Given the description of an element on the screen output the (x, y) to click on. 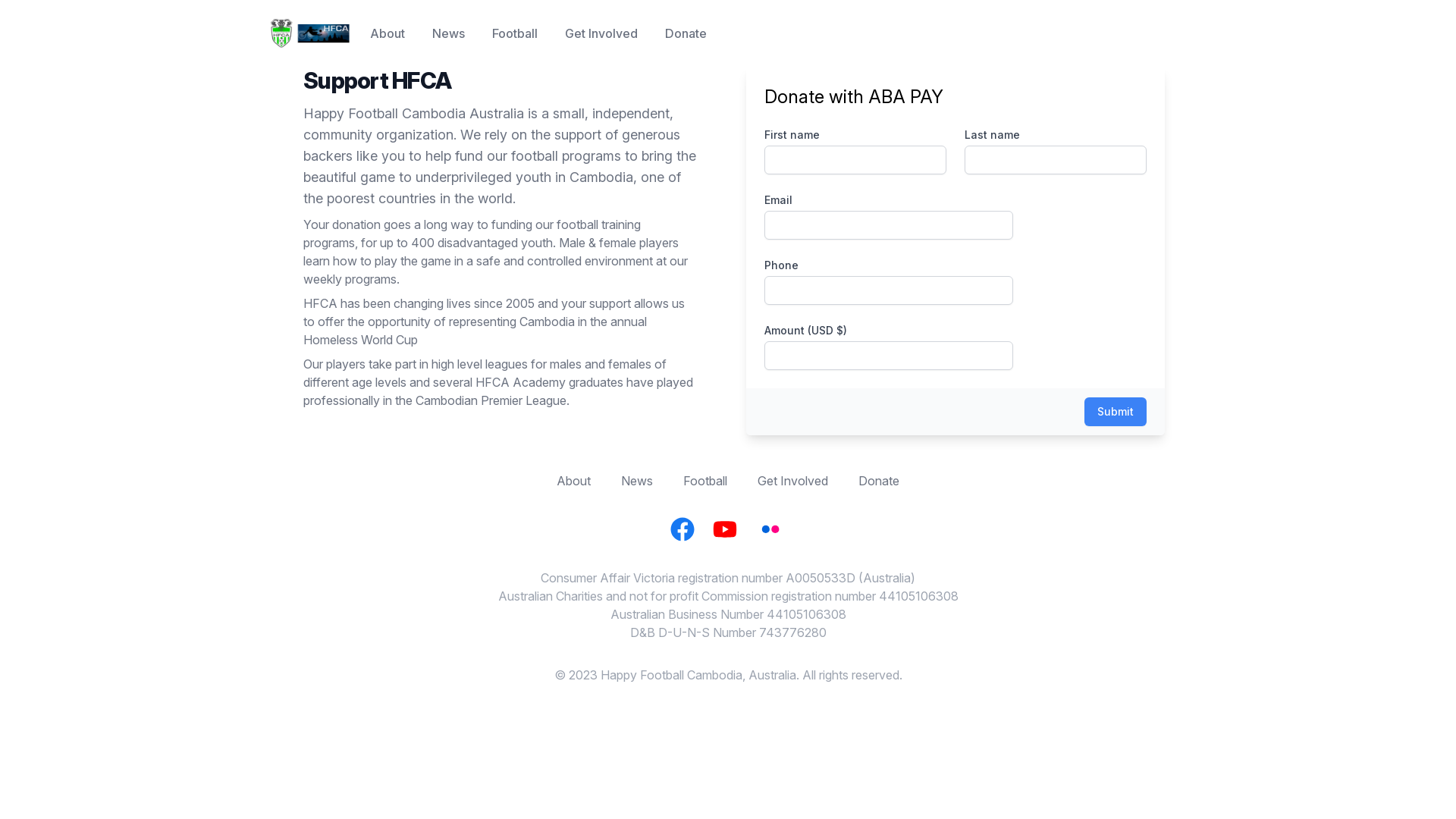
News Element type: text (636, 480)
Football Element type: text (514, 32)
About Element type: text (387, 32)
YouTube Element type: text (724, 529)
Get Involved Element type: text (600, 32)
News Element type: text (448, 32)
Get Involved Element type: text (792, 480)
About Element type: text (573, 480)
Facebook Element type: text (682, 529)
Football Element type: text (705, 480)
Submit Element type: text (1115, 411)
Flickr Element type: text (770, 529)
Donate Element type: text (878, 480)
Donate Element type: text (685, 32)
